Given the description of an element on the screen output the (x, y) to click on. 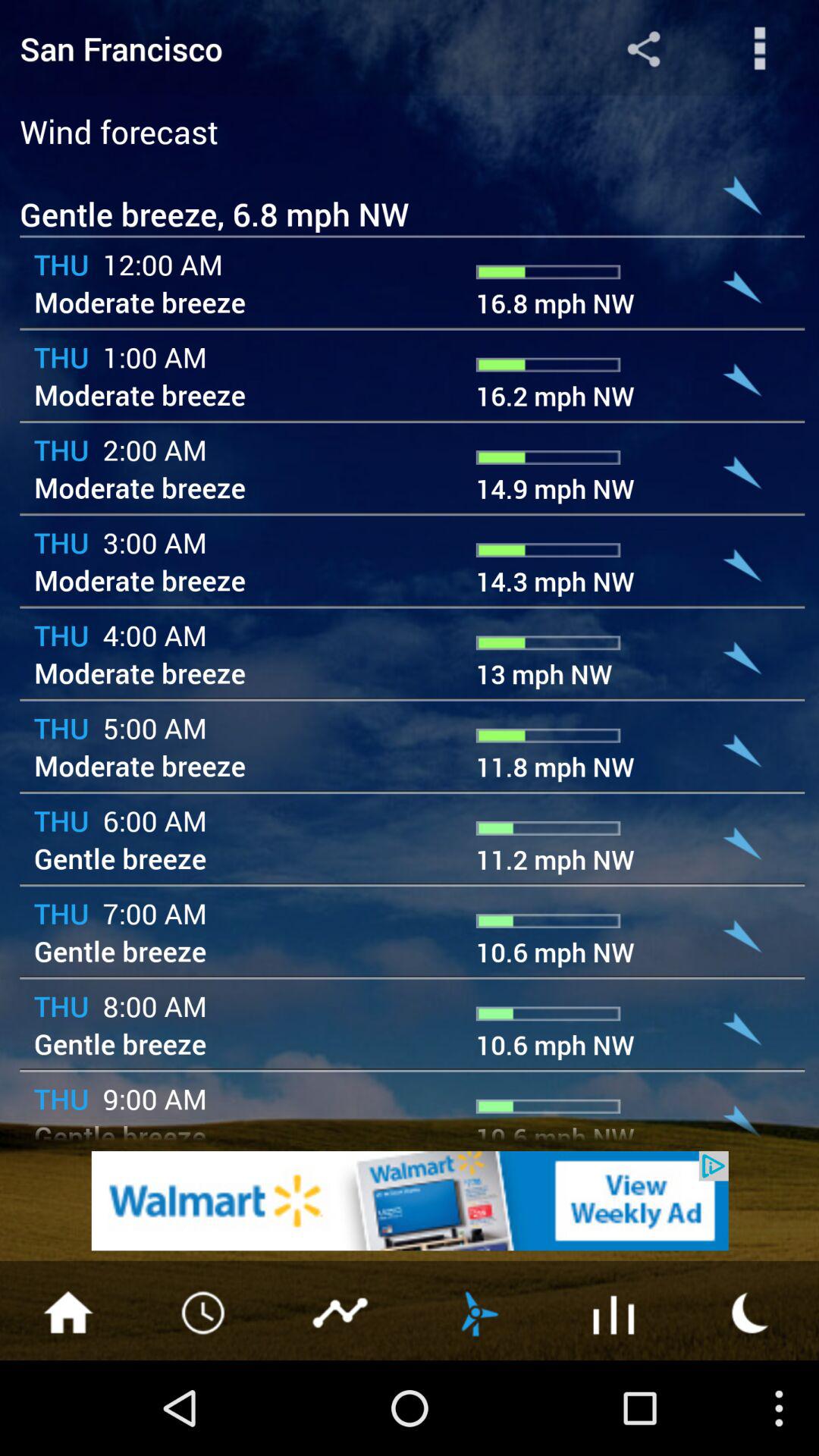
click the menu button (68, 1311)
